Given the description of an element on the screen output the (x, y) to click on. 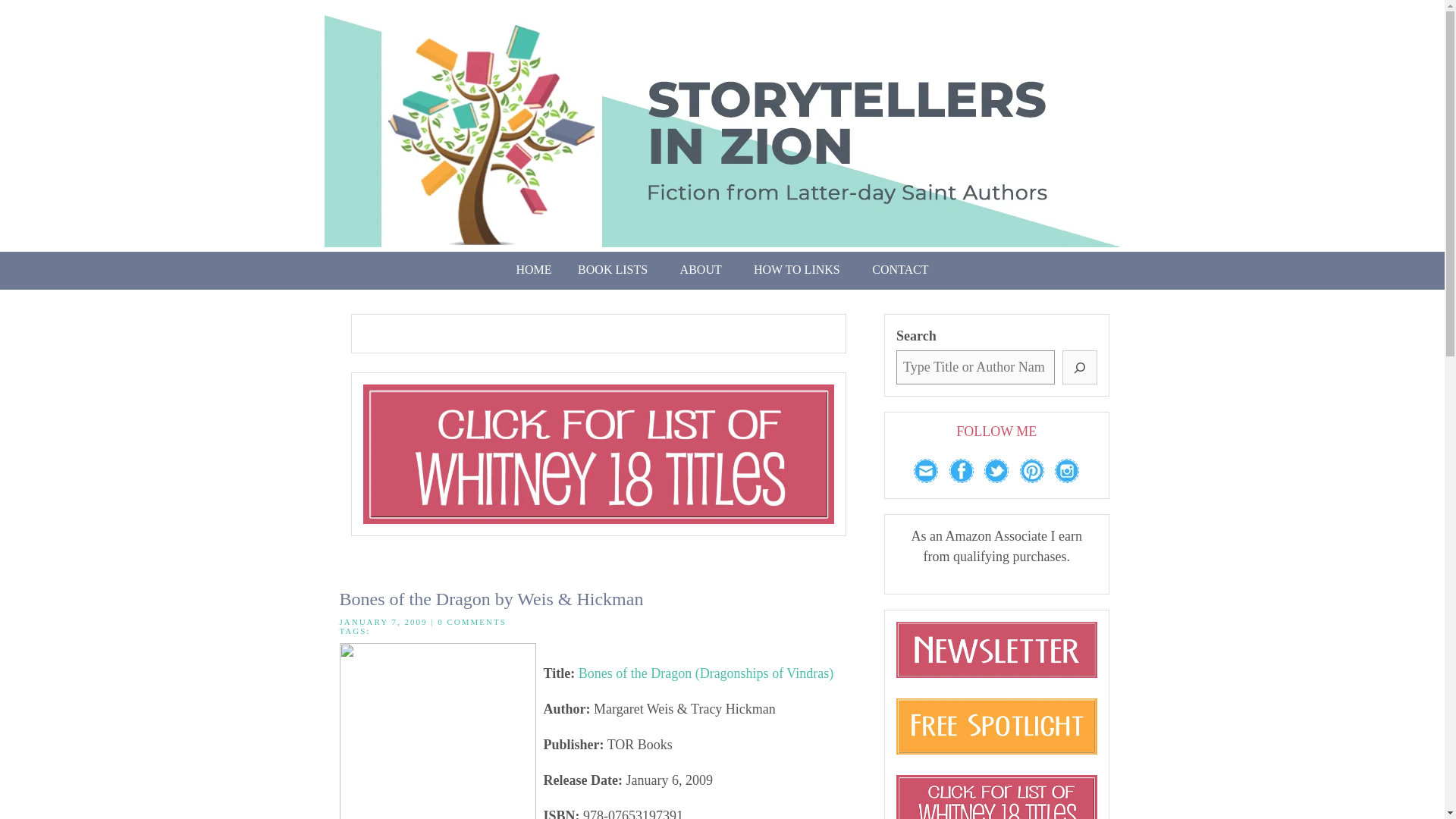
HOW TO LINKS   (799, 269)
0 COMMENTS (472, 621)
ABOUT   (703, 269)
CONTACT (899, 269)
HOME (532, 269)
BOOK LISTS   (615, 269)
